Given the description of an element on the screen output the (x, y) to click on. 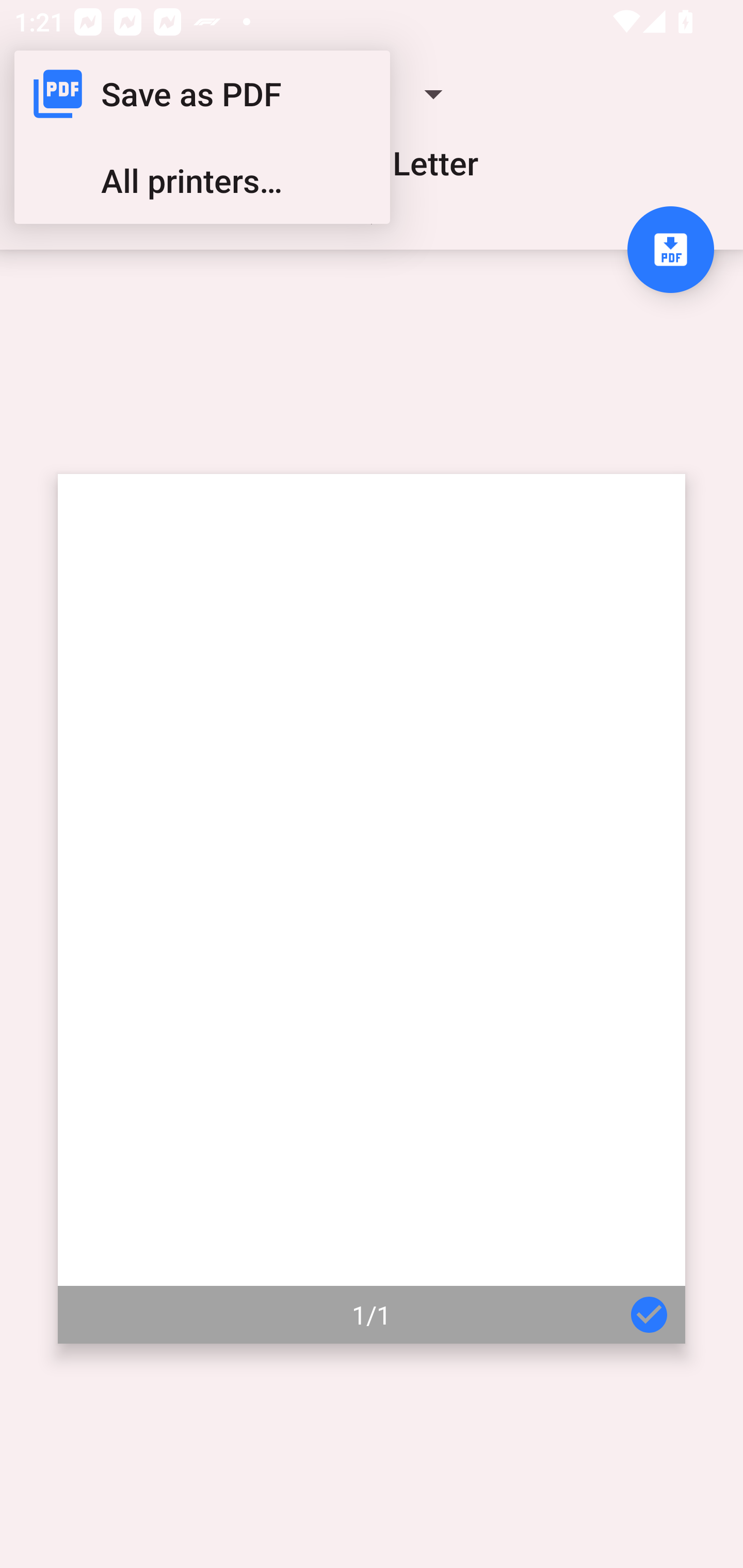
Save as PDF (202, 93)
All printers… (202, 180)
